Given the description of an element on the screen output the (x, y) to click on. 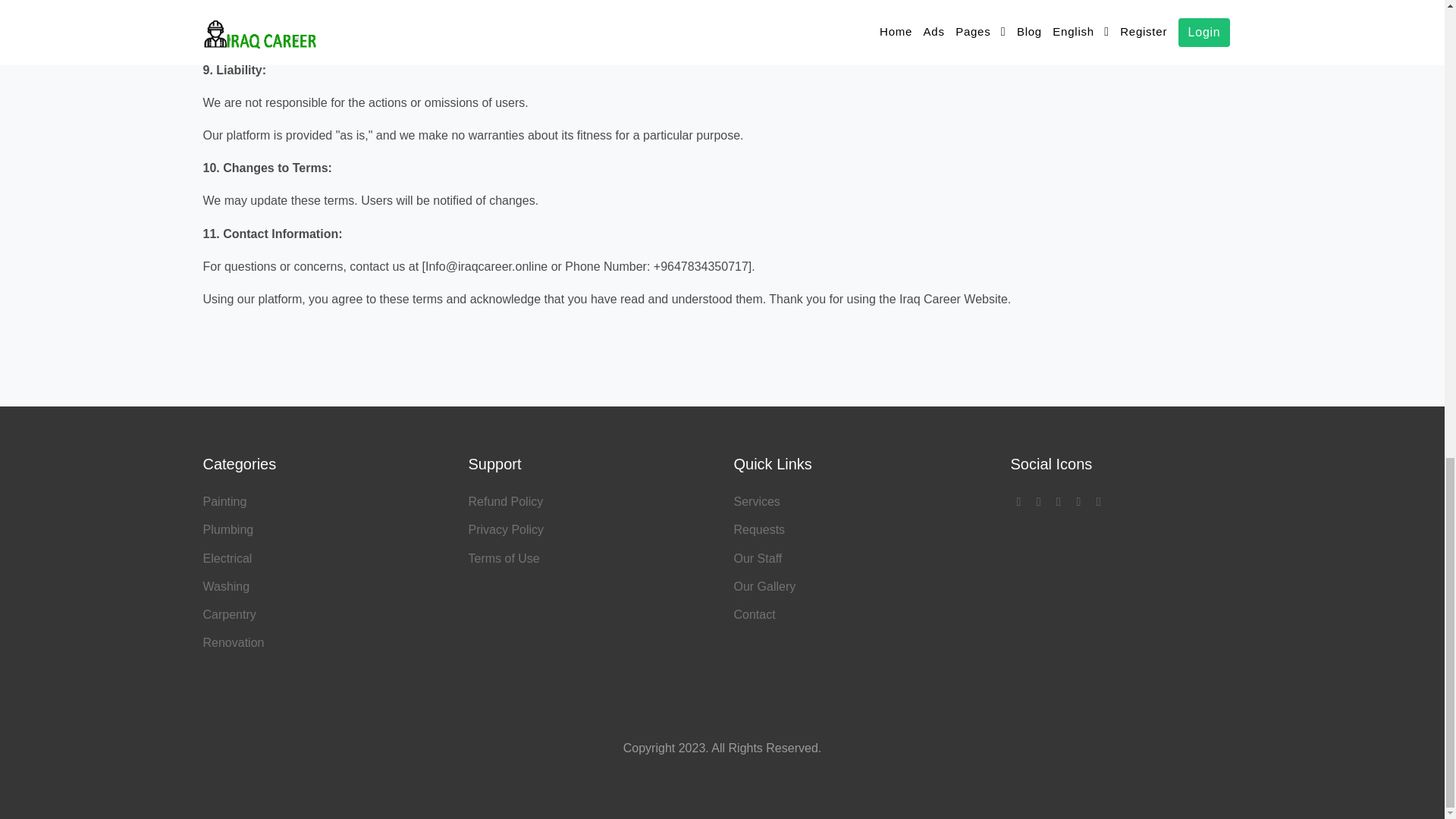
Painting (225, 501)
